Given the description of an element on the screen output the (x, y) to click on. 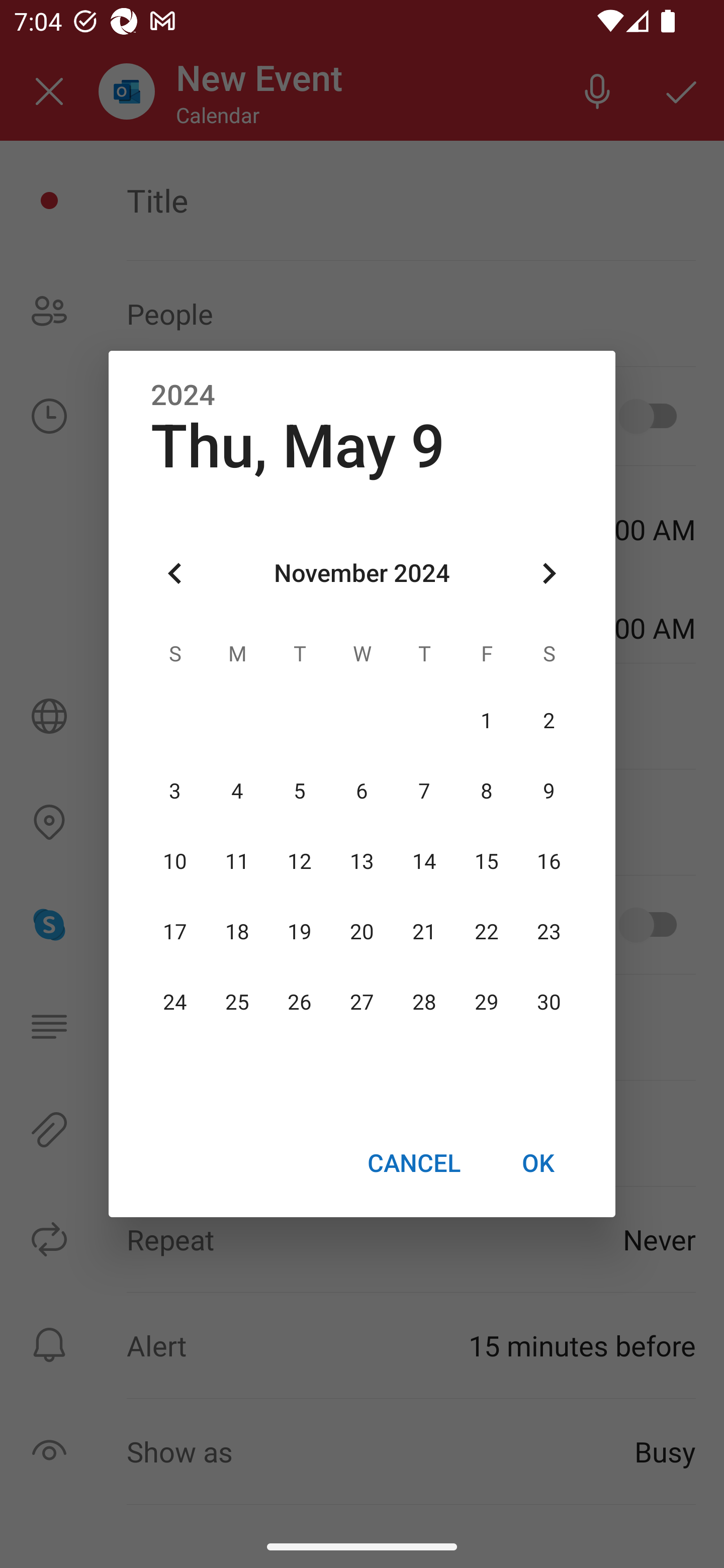
2024 (182, 395)
Thu, May 9 (297, 446)
Previous month (174, 573)
Next month (548, 573)
1 01 November 2024 (486, 720)
2 02 November 2024 (548, 720)
3 03 November 2024 (175, 790)
4 04 November 2024 (237, 790)
5 05 November 2024 (299, 790)
6 06 November 2024 (361, 790)
7 07 November 2024 (424, 790)
8 08 November 2024 (486, 790)
9 09 November 2024 (548, 790)
10 10 November 2024 (175, 861)
11 11 November 2024 (237, 861)
12 12 November 2024 (299, 861)
13 13 November 2024 (361, 861)
14 14 November 2024 (424, 861)
15 15 November 2024 (486, 861)
16 16 November 2024 (548, 861)
17 17 November 2024 (175, 931)
18 18 November 2024 (237, 931)
19 19 November 2024 (299, 931)
20 20 November 2024 (361, 931)
21 21 November 2024 (424, 931)
22 22 November 2024 (486, 931)
23 23 November 2024 (548, 931)
24 24 November 2024 (175, 1002)
25 25 November 2024 (237, 1002)
26 26 November 2024 (299, 1002)
27 27 November 2024 (361, 1002)
28 28 November 2024 (424, 1002)
29 29 November 2024 (486, 1002)
30 30 November 2024 (548, 1002)
CANCEL (413, 1162)
OK (537, 1162)
